Given the description of an element on the screen output the (x, y) to click on. 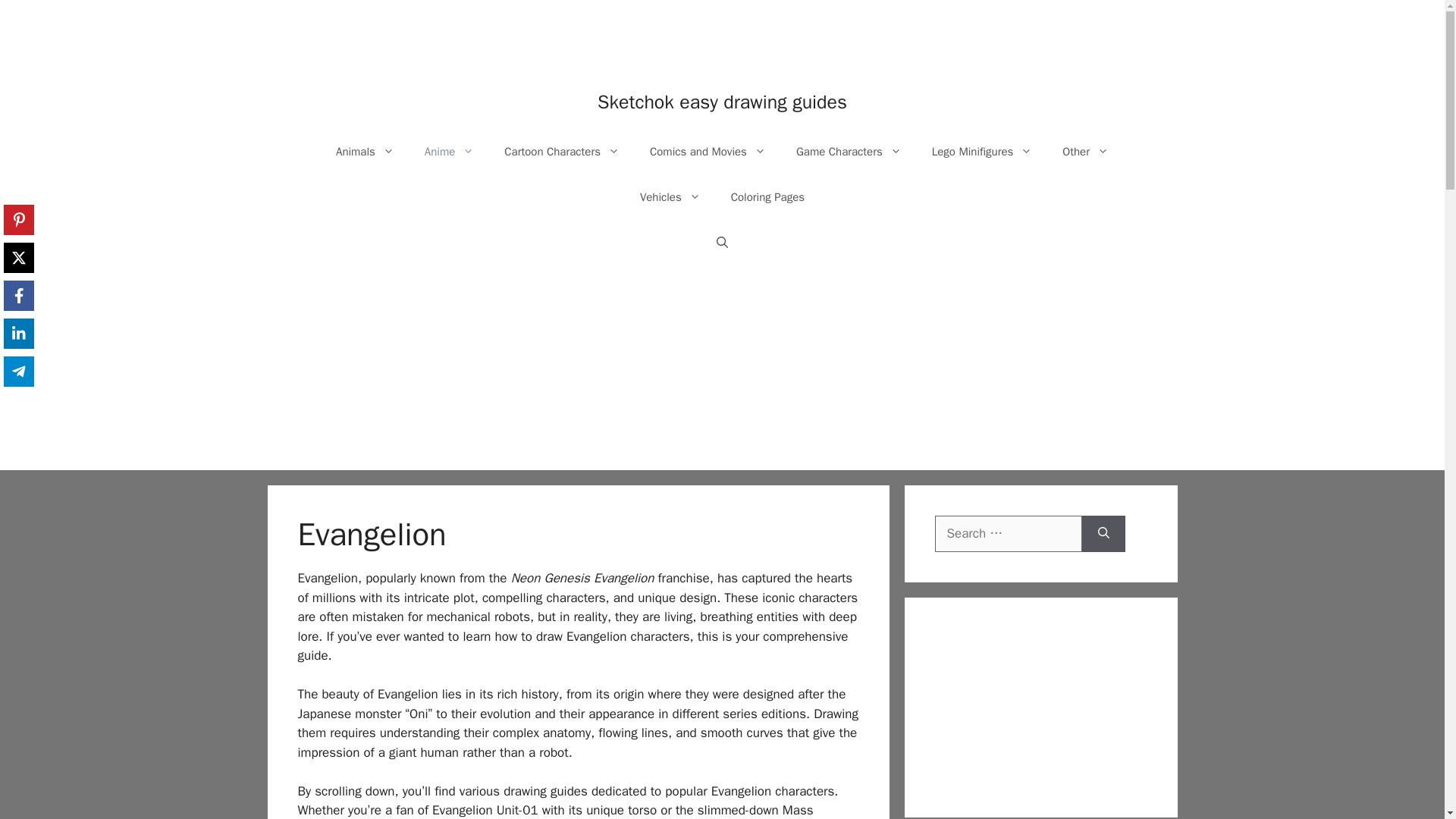
Sketchok easy drawing guides (721, 101)
Animals (364, 151)
Anime (449, 151)
Search for: (1007, 533)
